Given the description of an element on the screen output the (x, y) to click on. 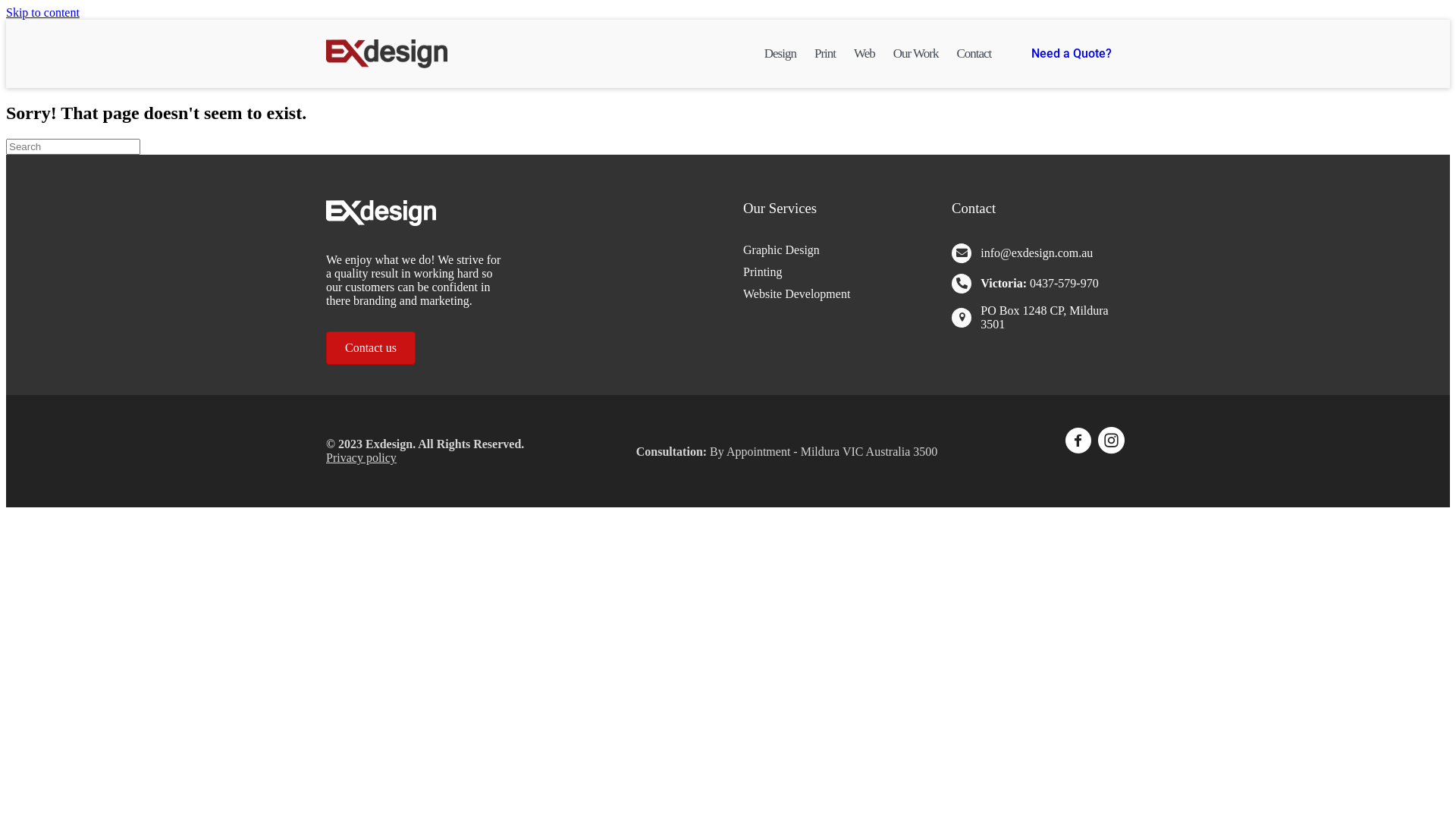
Our Work Element type: text (915, 53)
Need a Quote? Element type: text (1071, 53)
Print Element type: text (824, 53)
Exdesign Element type: hover (386, 53)
Type and press Enter to search. Element type: hover (727, 146)
Web Element type: text (864, 53)
Graphic Design Element type: text (832, 249)
Design Element type: text (780, 53)
Contact Element type: text (973, 53)
Privacy policy Element type: text (361, 457)
Website Development Element type: text (832, 293)
logo-reversed Element type: hover (381, 212)
Skip to content Element type: text (42, 12)
Contact us Element type: text (370, 347)
Printing Element type: text (832, 271)
